Given the description of an element on the screen output the (x, y) to click on. 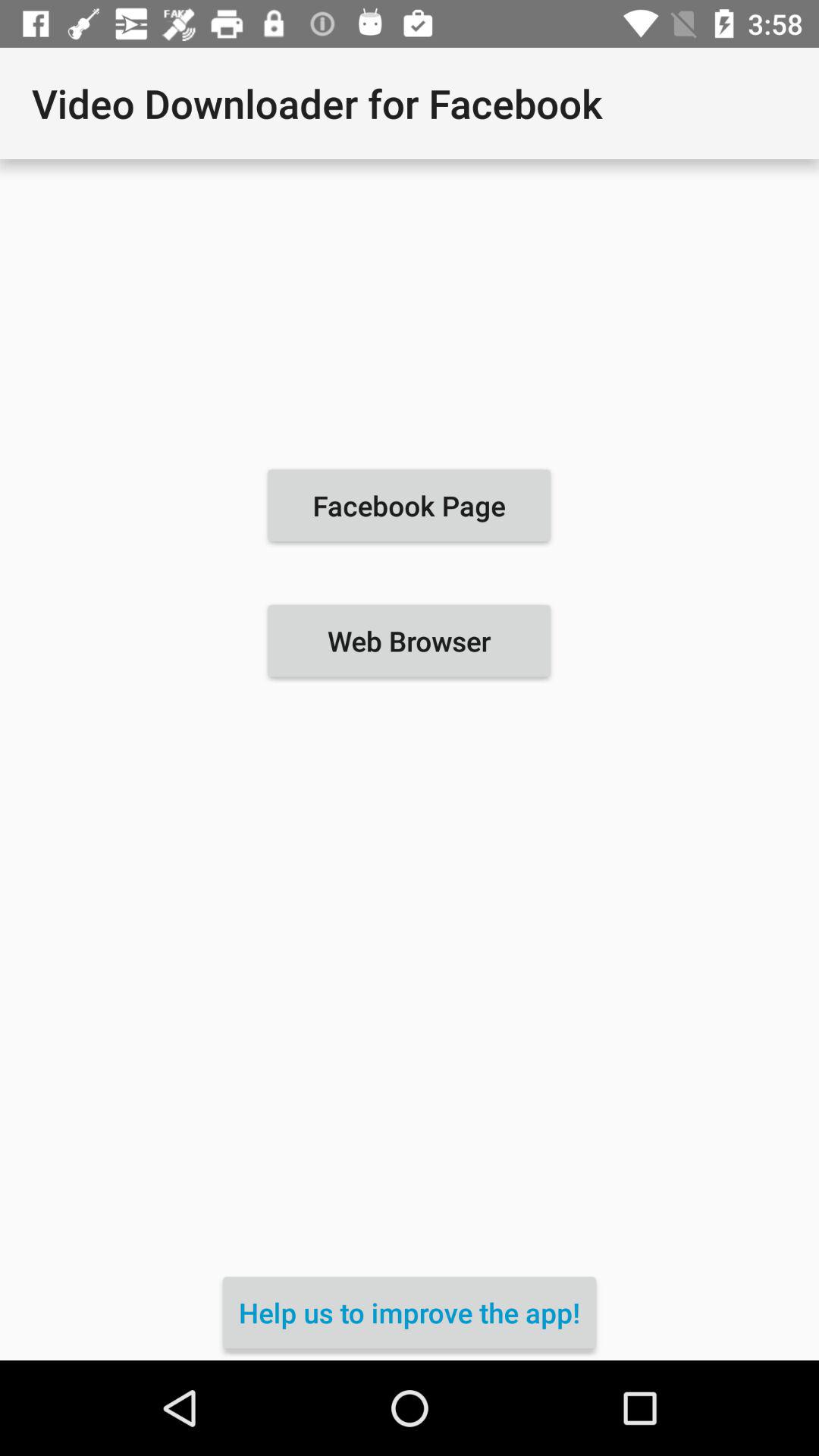
open the facebook page (408, 505)
